Given the description of an element on the screen output the (x, y) to click on. 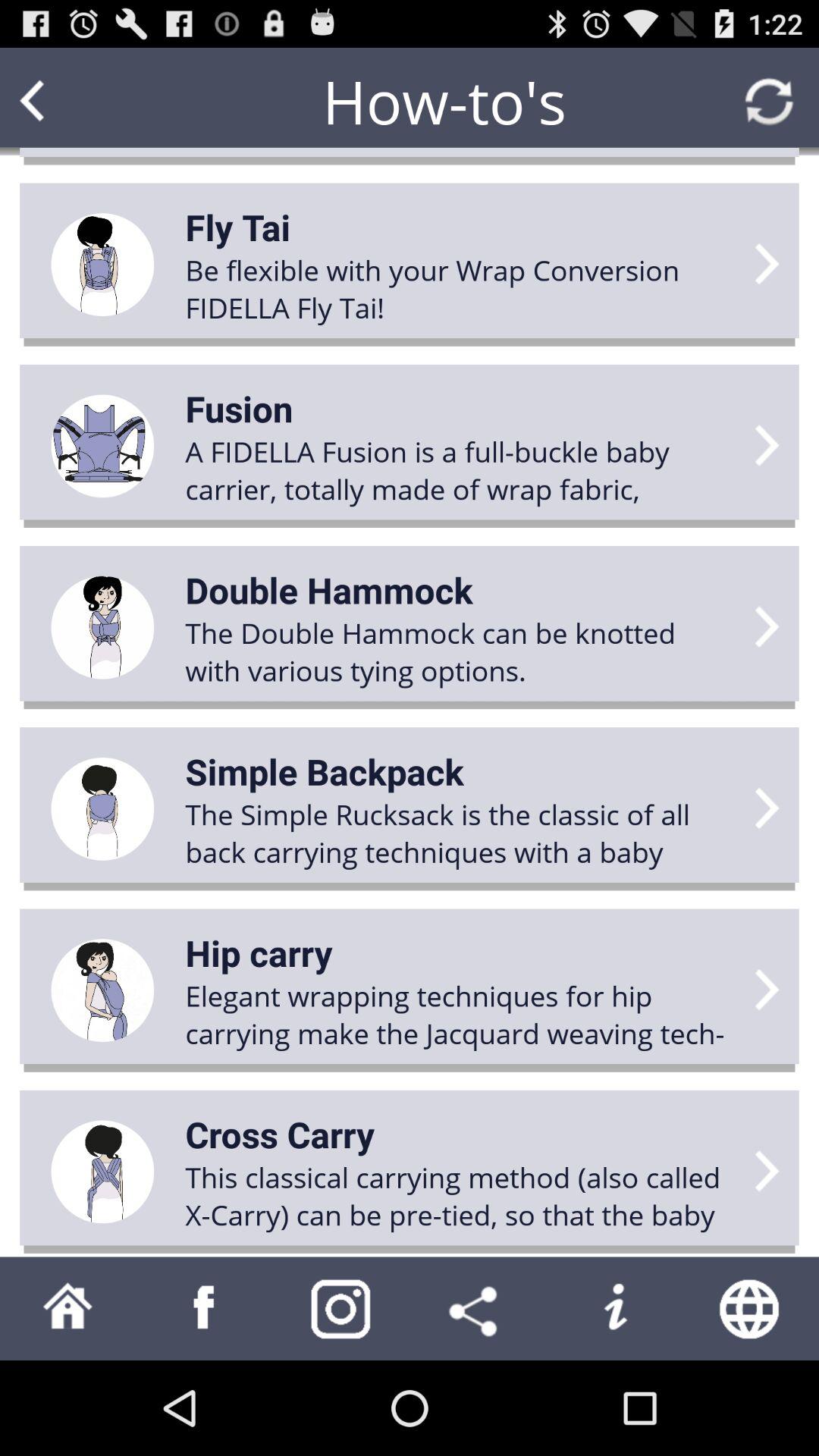
different uses of the baby wrap (204, 1308)
